Given the description of an element on the screen output the (x, y) to click on. 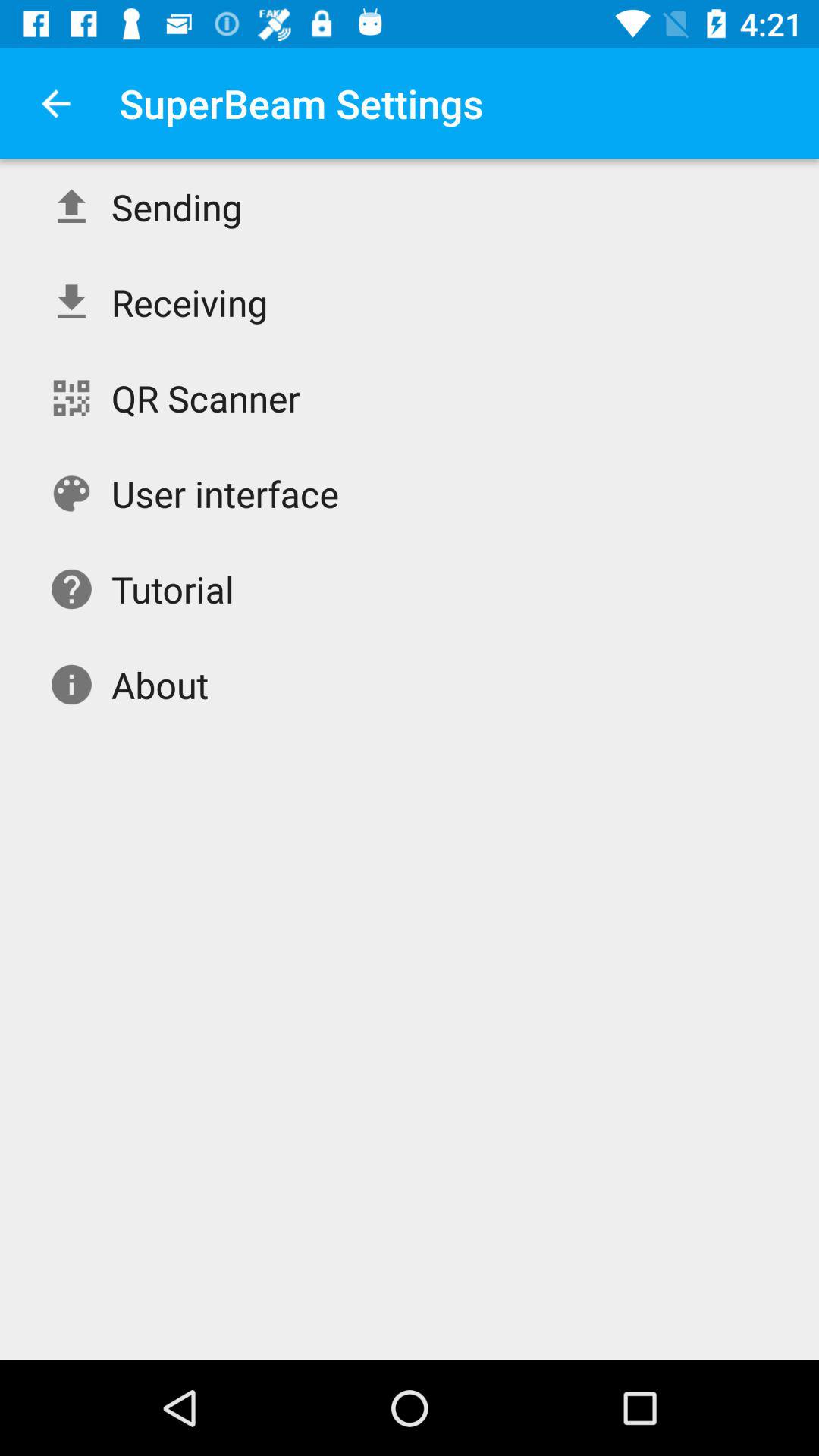
launch qr scanner app (205, 397)
